Given the description of an element on the screen output the (x, y) to click on. 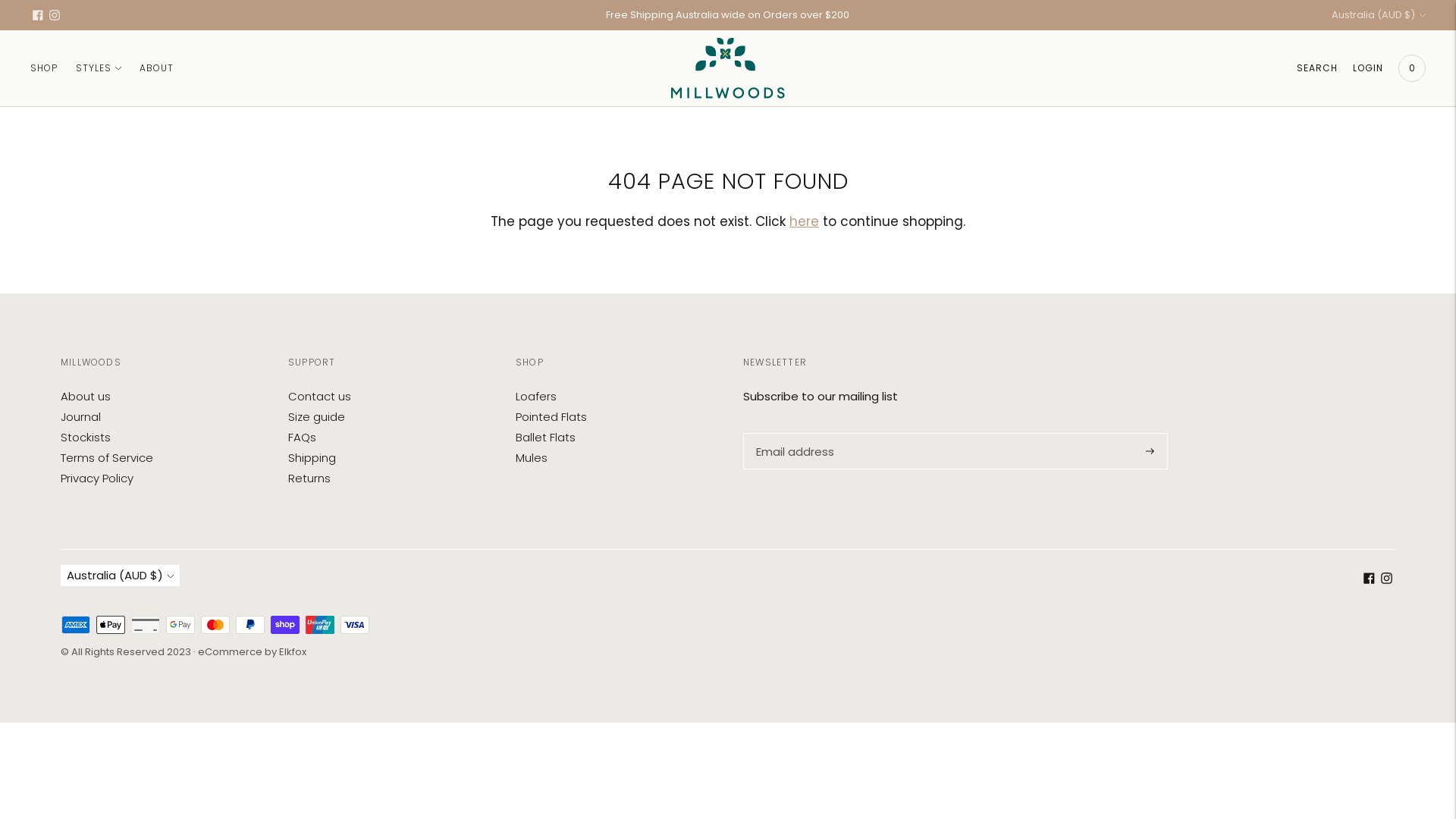
STYLES Element type: text (98, 67)
Australia (AUD $) Element type: text (1378, 14)
0 Element type: text (1411, 67)
Returns Element type: text (309, 478)
Stockists Element type: text (85, 437)
Australia (AUD $) Element type: text (119, 575)
Privacy Policy Element type: text (96, 478)
Millwoods on Facebook Element type: hover (1368, 579)
Millwoods on Instagram Element type: hover (54, 14)
Contact us Element type: text (319, 396)
Pointed Flats Element type: text (550, 416)
Millwoods on Facebook Element type: hover (37, 14)
Millwoods on Instagram Element type: hover (1386, 579)
FAQs Element type: text (302, 437)
Journal Element type: text (80, 416)
Loafers Element type: text (535, 396)
SHOP Element type: text (43, 67)
ABOUT Element type: text (156, 67)
Mules Element type: text (531, 457)
Millwoods Element type: text (727, 67)
Ballet Flats Element type: text (545, 437)
About us Element type: text (85, 396)
Terms of Service Element type: text (106, 457)
Size guide Element type: text (316, 416)
LOGIN Element type: text (1367, 67)
here Element type: text (804, 221)
Shipping Element type: text (311, 457)
SEARCH Element type: text (1316, 67)
eCommerce by Elkfox Element type: text (251, 651)
Subscribe Element type: text (1149, 451)
